Given the description of an element on the screen output the (x, y) to click on. 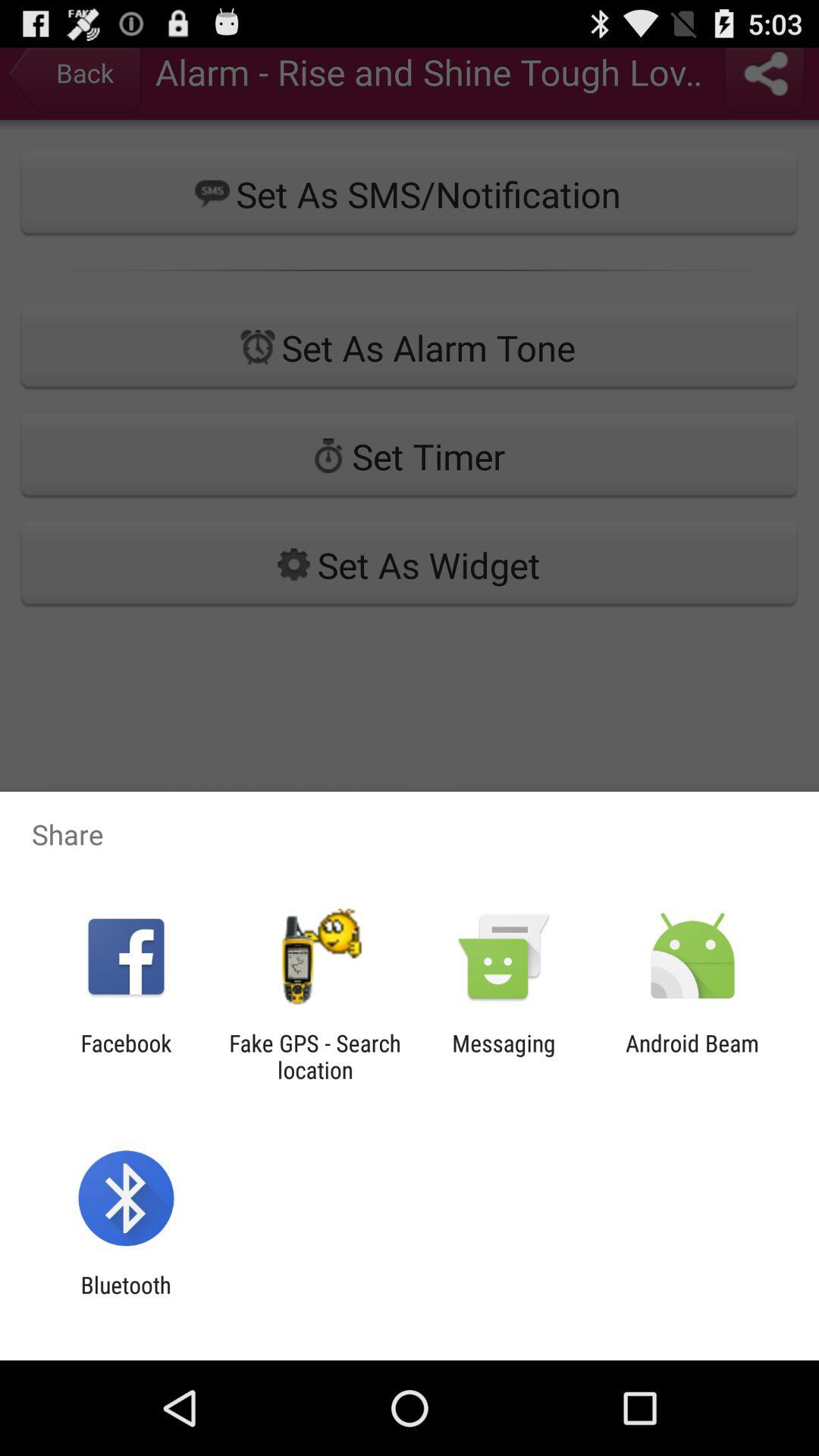
swipe to the facebook item (125, 1056)
